Given the description of an element on the screen output the (x, y) to click on. 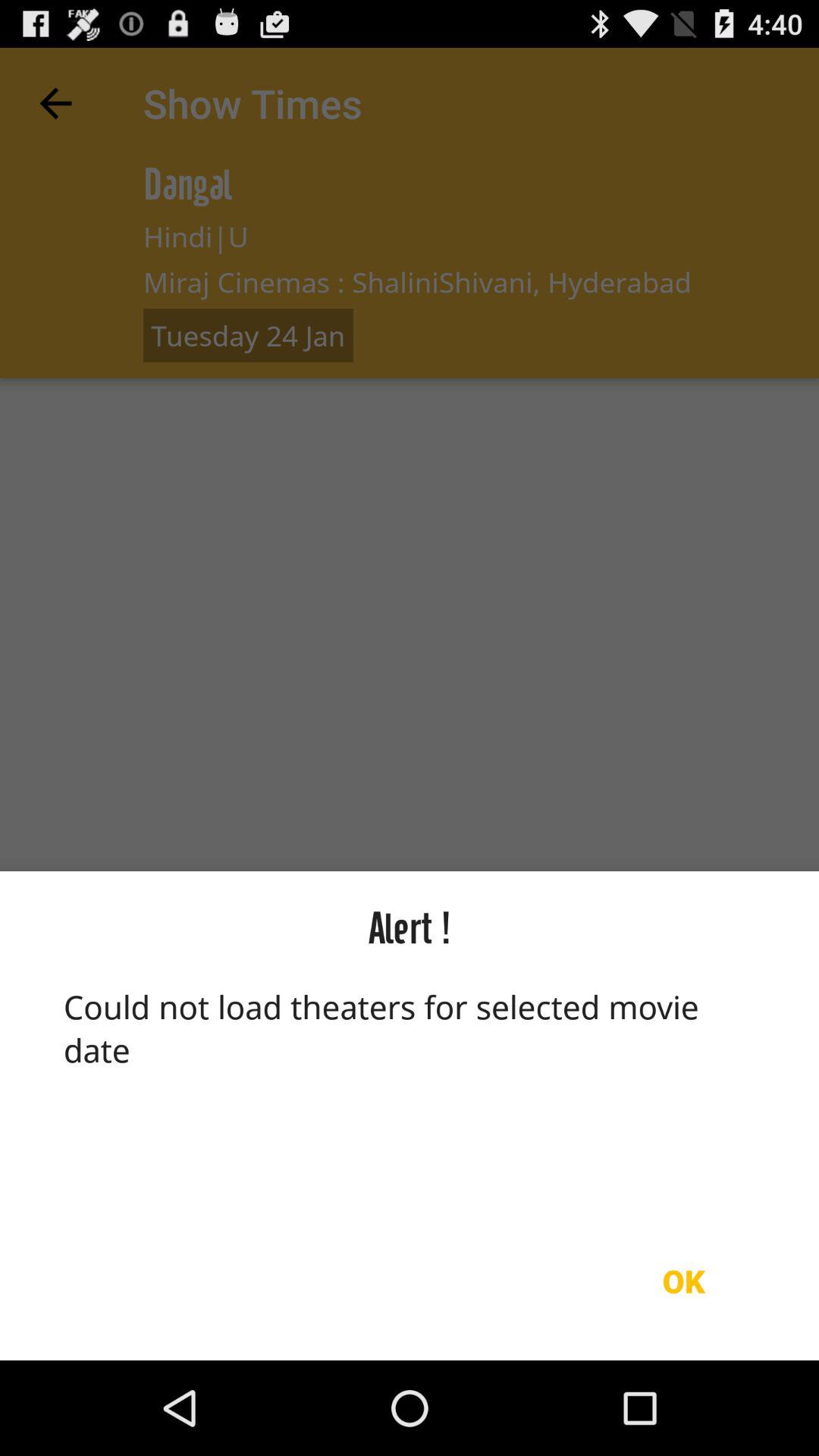
swipe until ok icon (683, 1280)
